Given the description of an element on the screen output the (x, y) to click on. 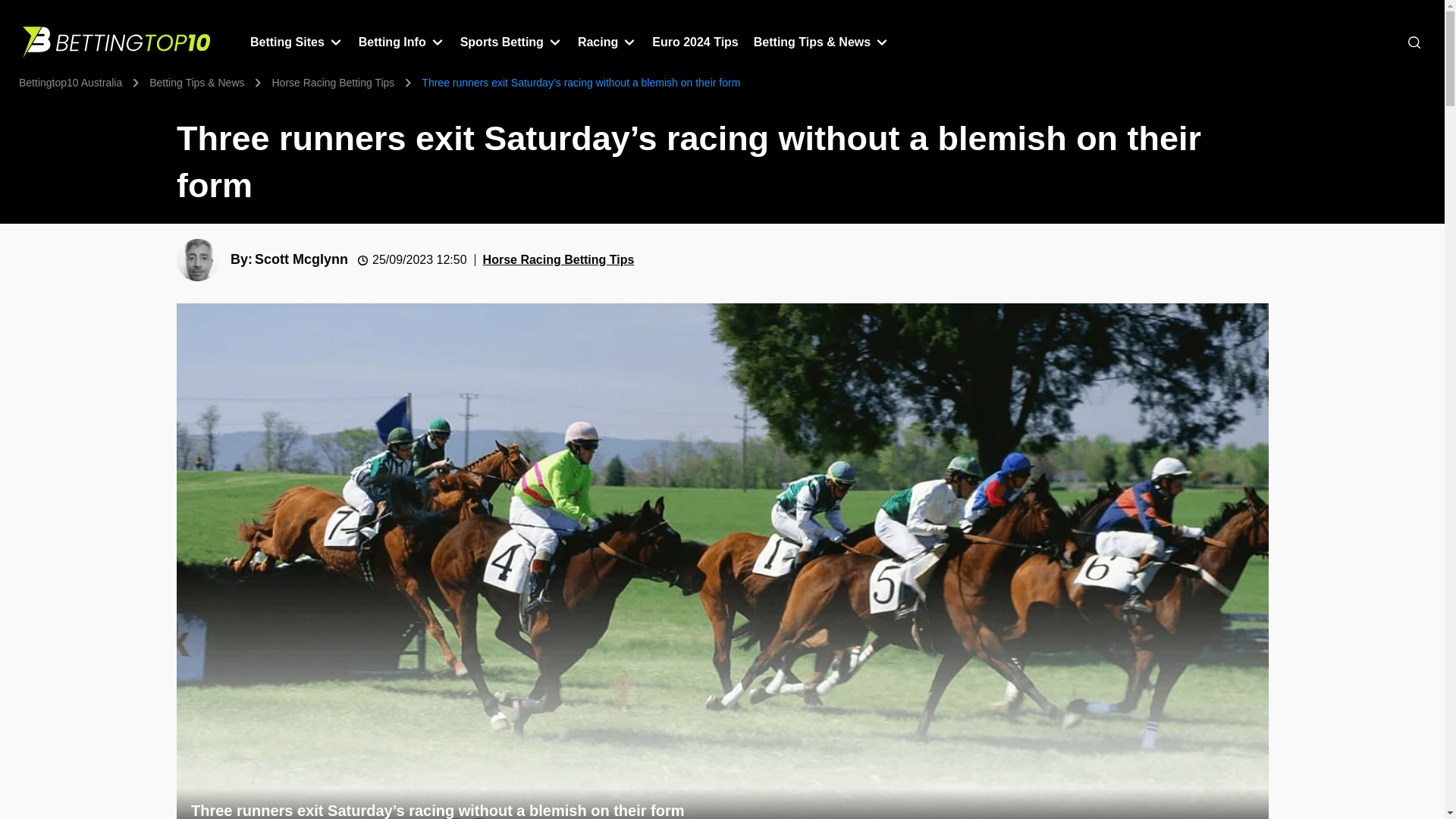
BettingTop10 Logo (117, 41)
Betting Sites (287, 42)
